Given the description of an element on the screen output the (x, y) to click on. 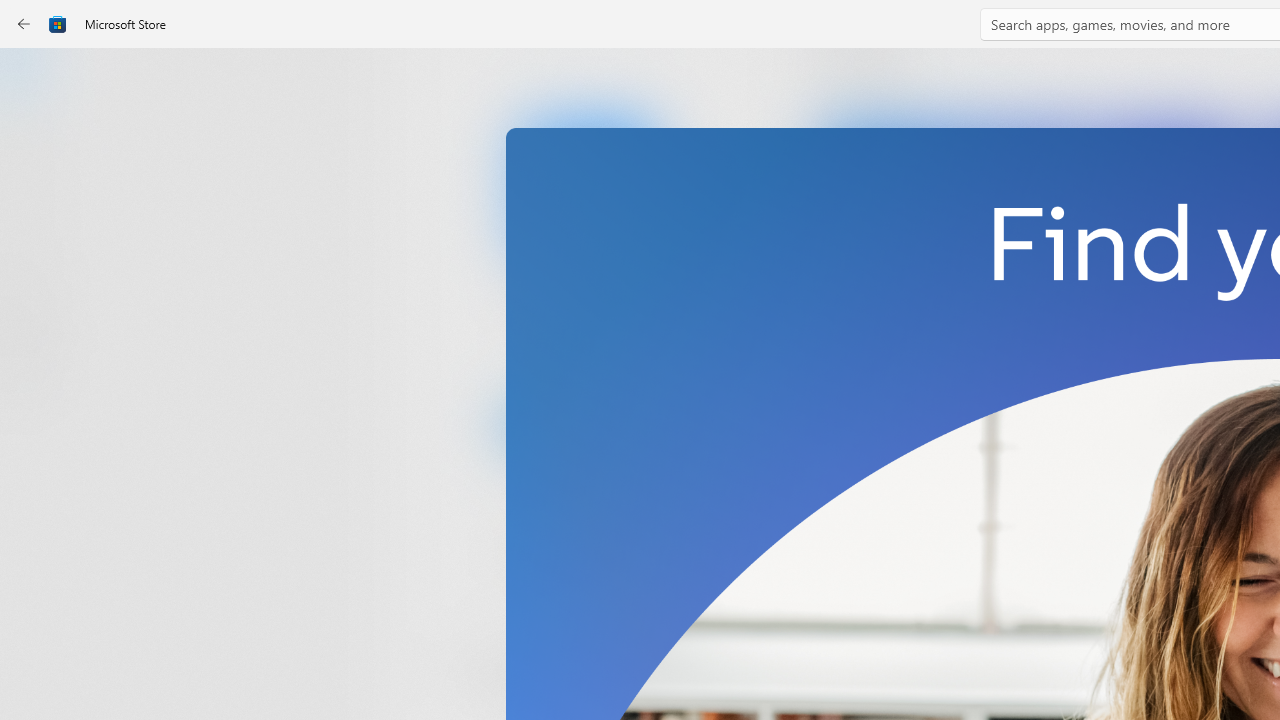
3.9 stars. Click to skip to ratings and reviews (542, 556)
LinkedIn (585, 333)
Get (586, 424)
Screenshot 1 (1029, 279)
Back (24, 24)
